Given the description of an element on the screen output the (x, y) to click on. 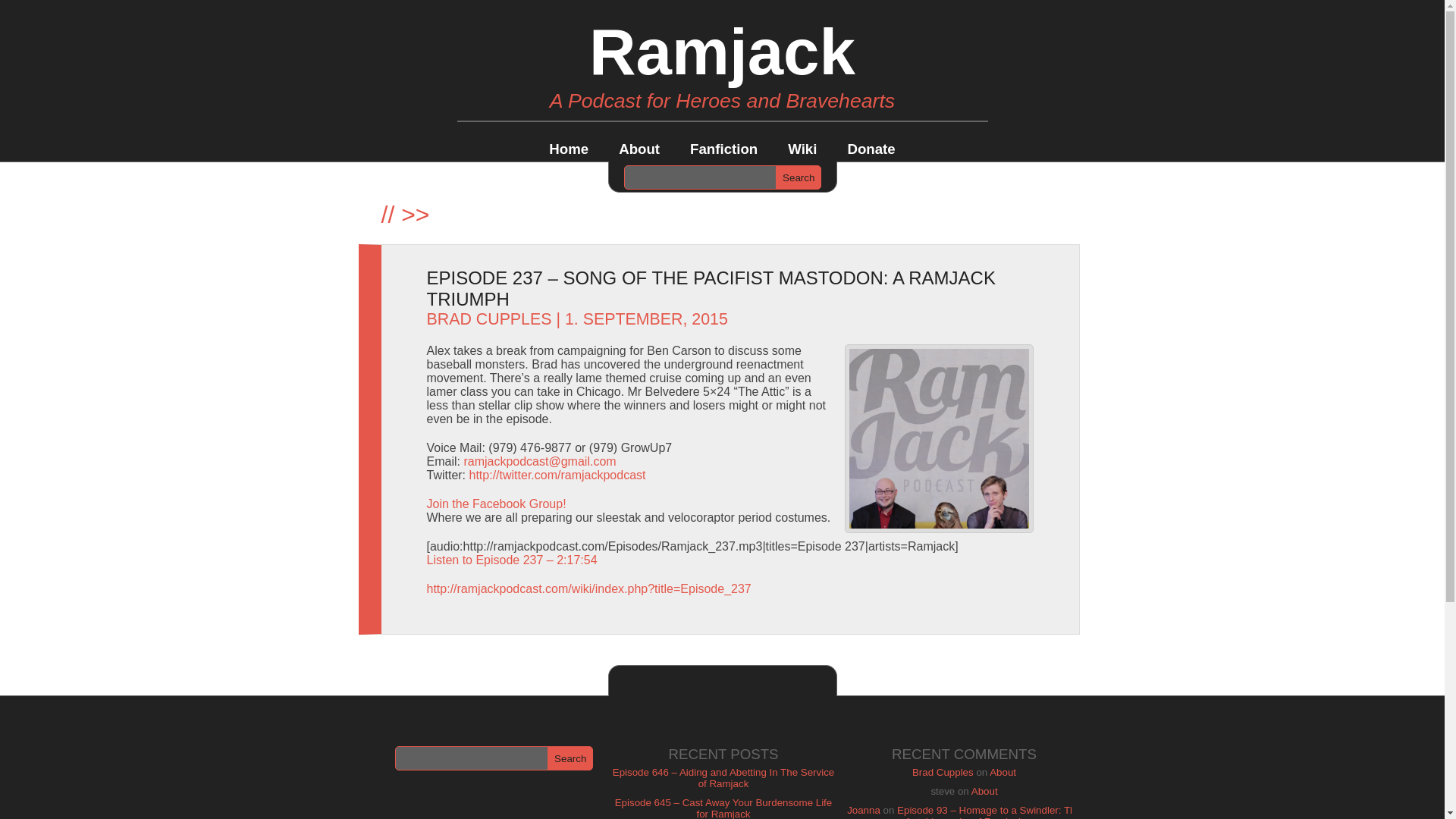
About (984, 790)
Grow up and Shut up already (938, 438)
Join the Facebook Group! (496, 503)
Donate (871, 148)
About (638, 148)
Wiki (801, 148)
Joanna (863, 809)
Fanfiction (723, 148)
Search (569, 758)
About (1003, 772)
